Given the description of an element on the screen output the (x, y) to click on. 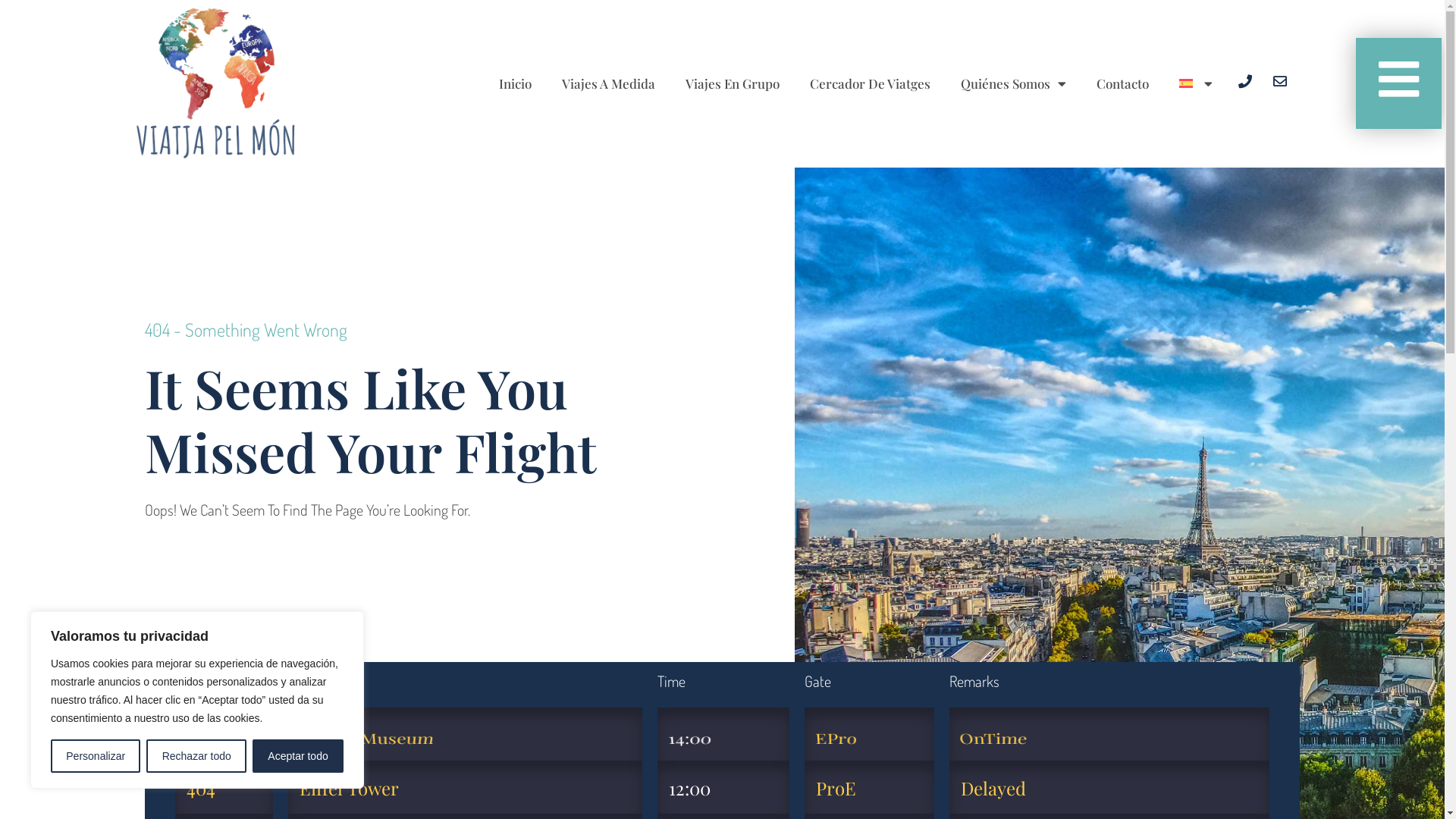
Rechazar todo Element type: text (196, 755)
Contacto Element type: text (1122, 82)
Aceptar todo Element type: text (297, 755)
Inicio Element type: text (514, 82)
Personalizar Element type: text (95, 755)
Viajes En Grupo Element type: text (732, 82)
Cercador De Viatges Element type: text (869, 82)
Viajes A Medida Element type: text (608, 82)
